Given the description of an element on the screen output the (x, y) to click on. 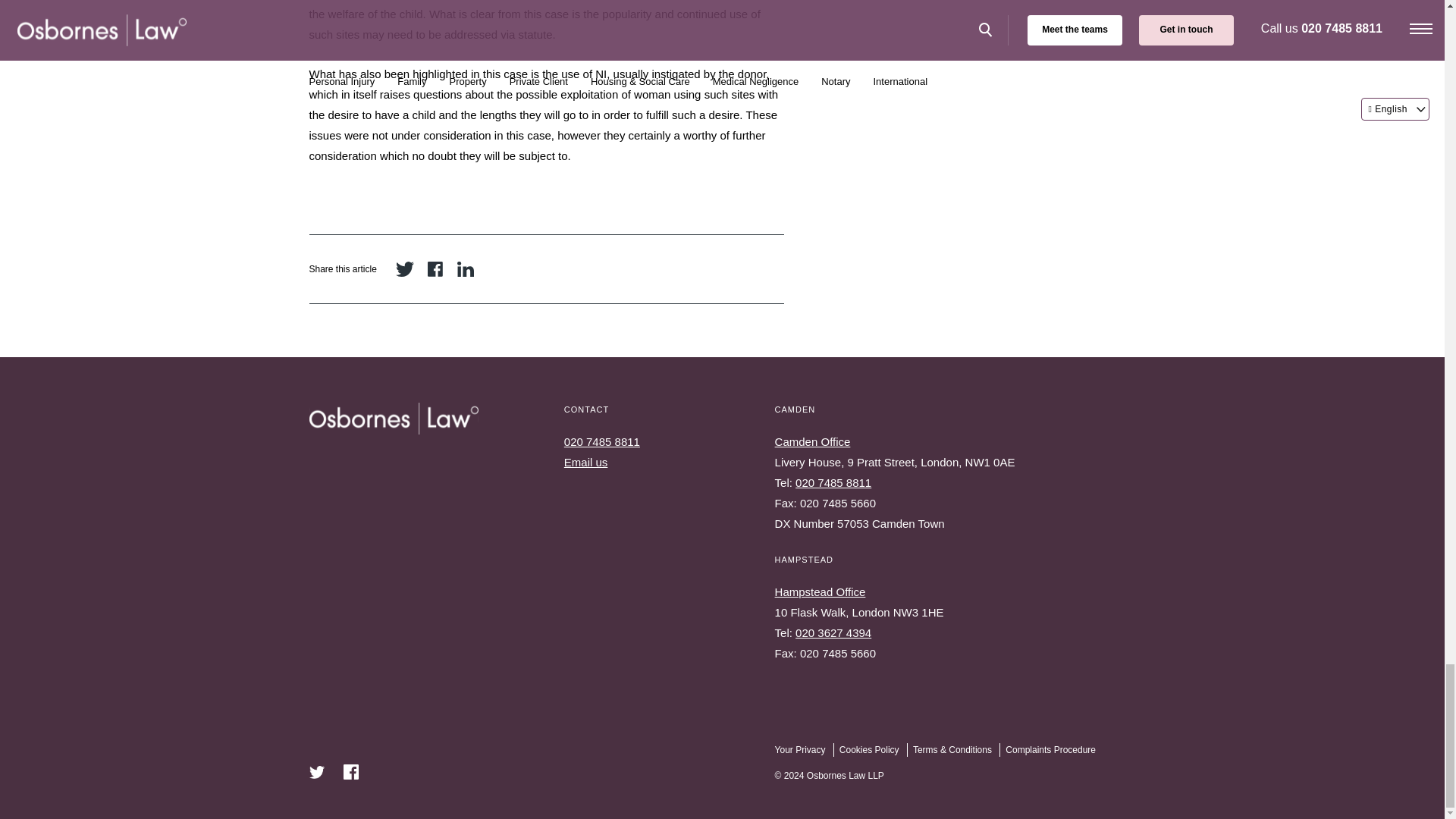
020 7485 8811 (602, 440)
Share on Twitter (404, 268)
Share on Facebook (434, 268)
Email us (586, 461)
Regulated by SRA (1348, 753)
Share on LinkedIn (465, 268)
Hampstead Office (820, 591)
020 7485 8811 (832, 481)
Camden Office (812, 440)
